Given the description of an element on the screen output the (x, y) to click on. 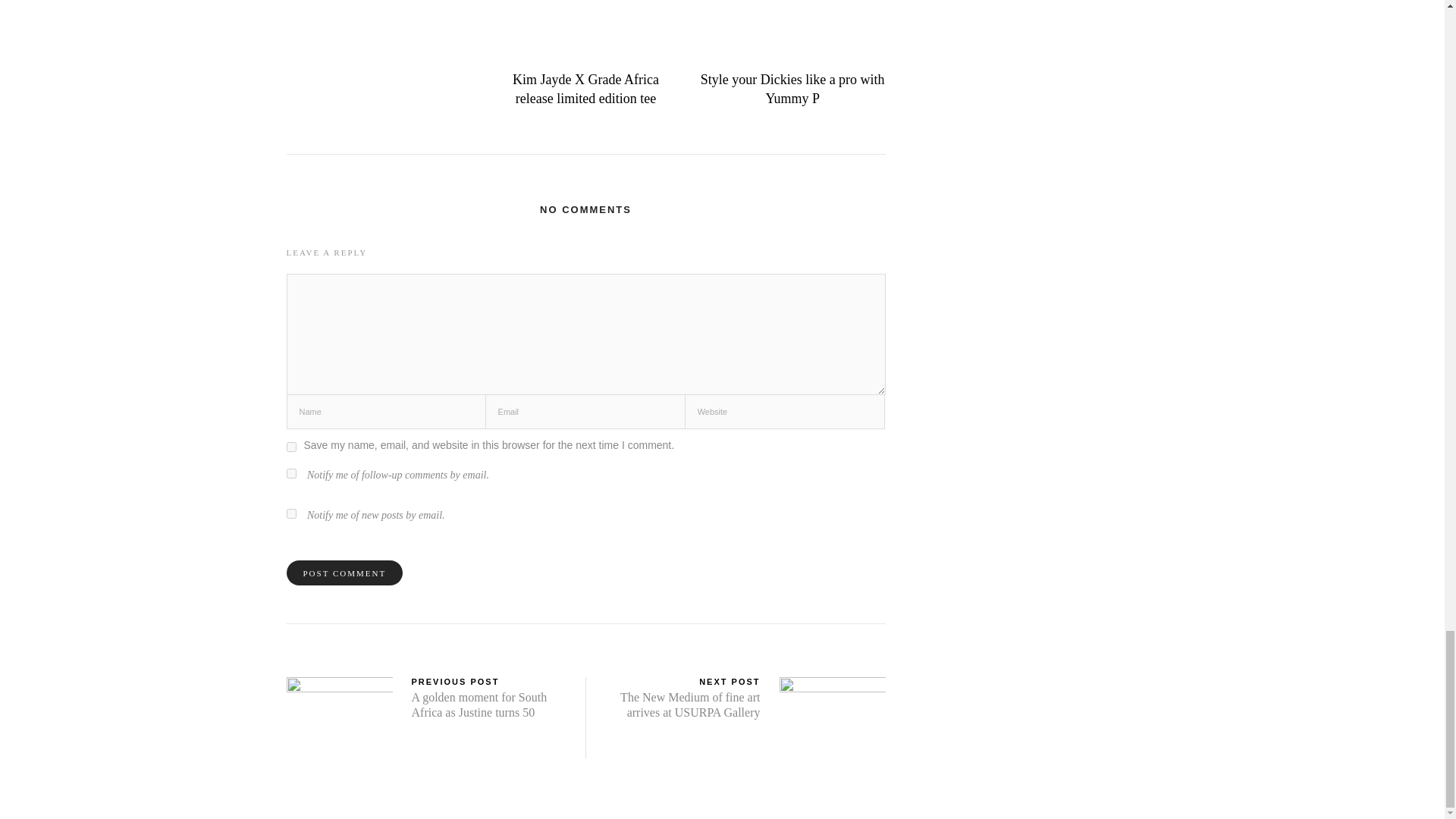
subscribe (291, 513)
subscribe (291, 473)
yes (291, 447)
Post Comment (344, 572)
